Given the description of an element on the screen output the (x, y) to click on. 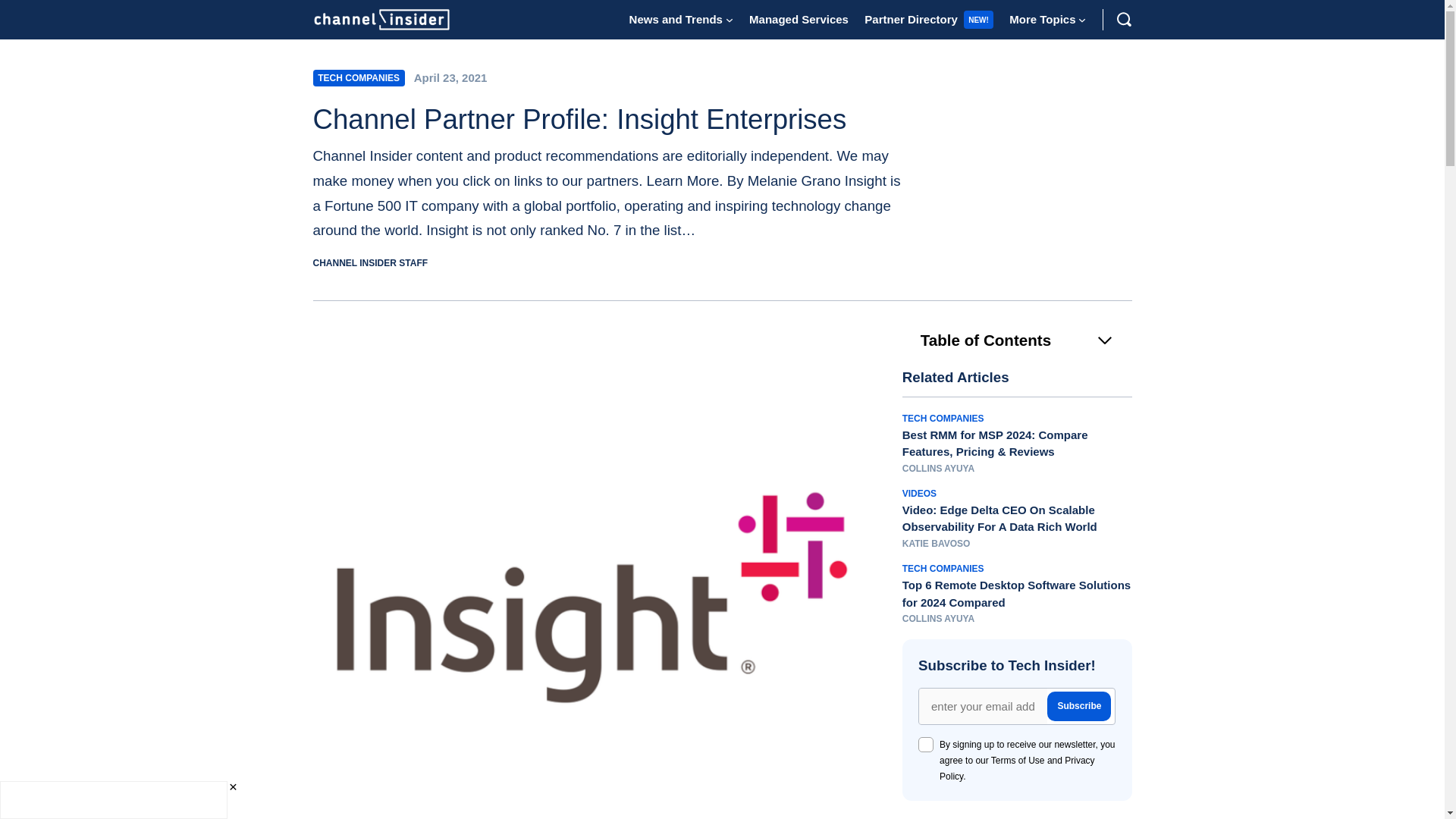
Table of Contents (1017, 339)
TECH COMPANIES (358, 77)
close (232, 786)
CHANNEL INSIDER STAFF (370, 262)
Managed Services (798, 19)
News and Trends (675, 19)
on (925, 744)
Partner Directory (911, 19)
More Topics (1042, 19)
